Given the description of an element on the screen output the (x, y) to click on. 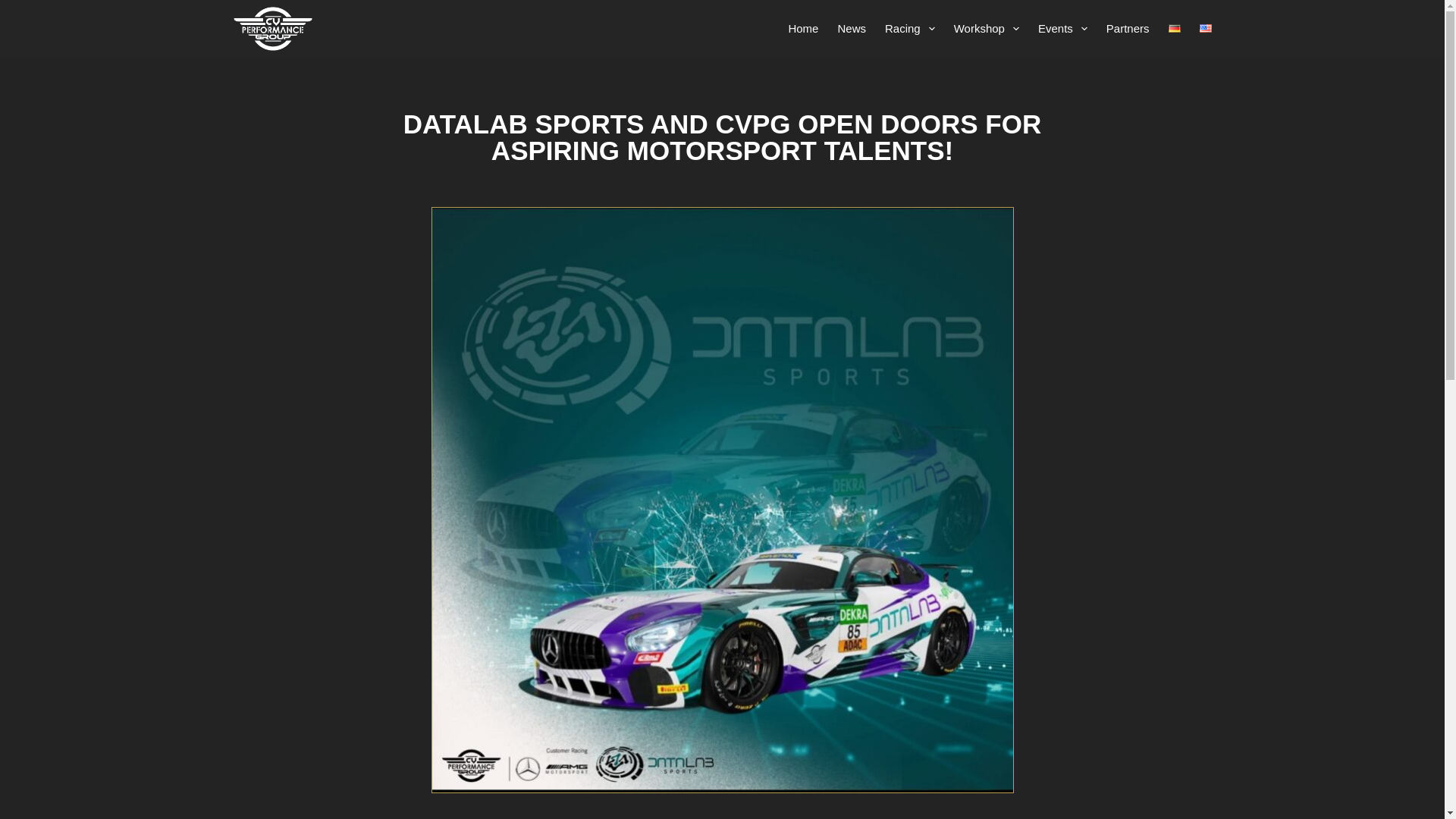
Workshop (985, 28)
Racing (909, 28)
Skip to content (15, 7)
